Given the description of an element on the screen output the (x, y) to click on. 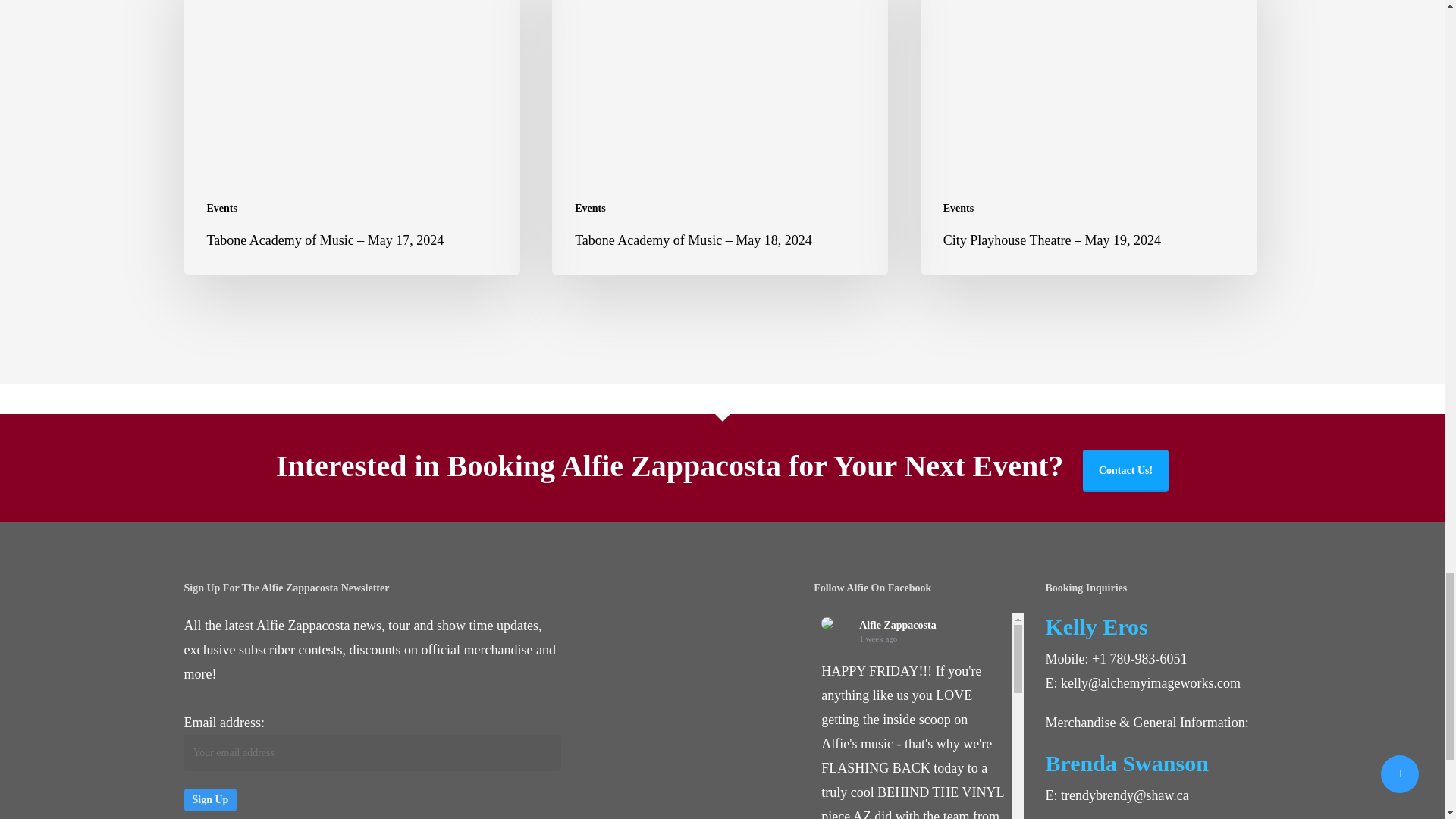
Alfie Zappacosta (826, 623)
Sign up (209, 799)
